Given the description of an element on the screen output the (x, y) to click on. 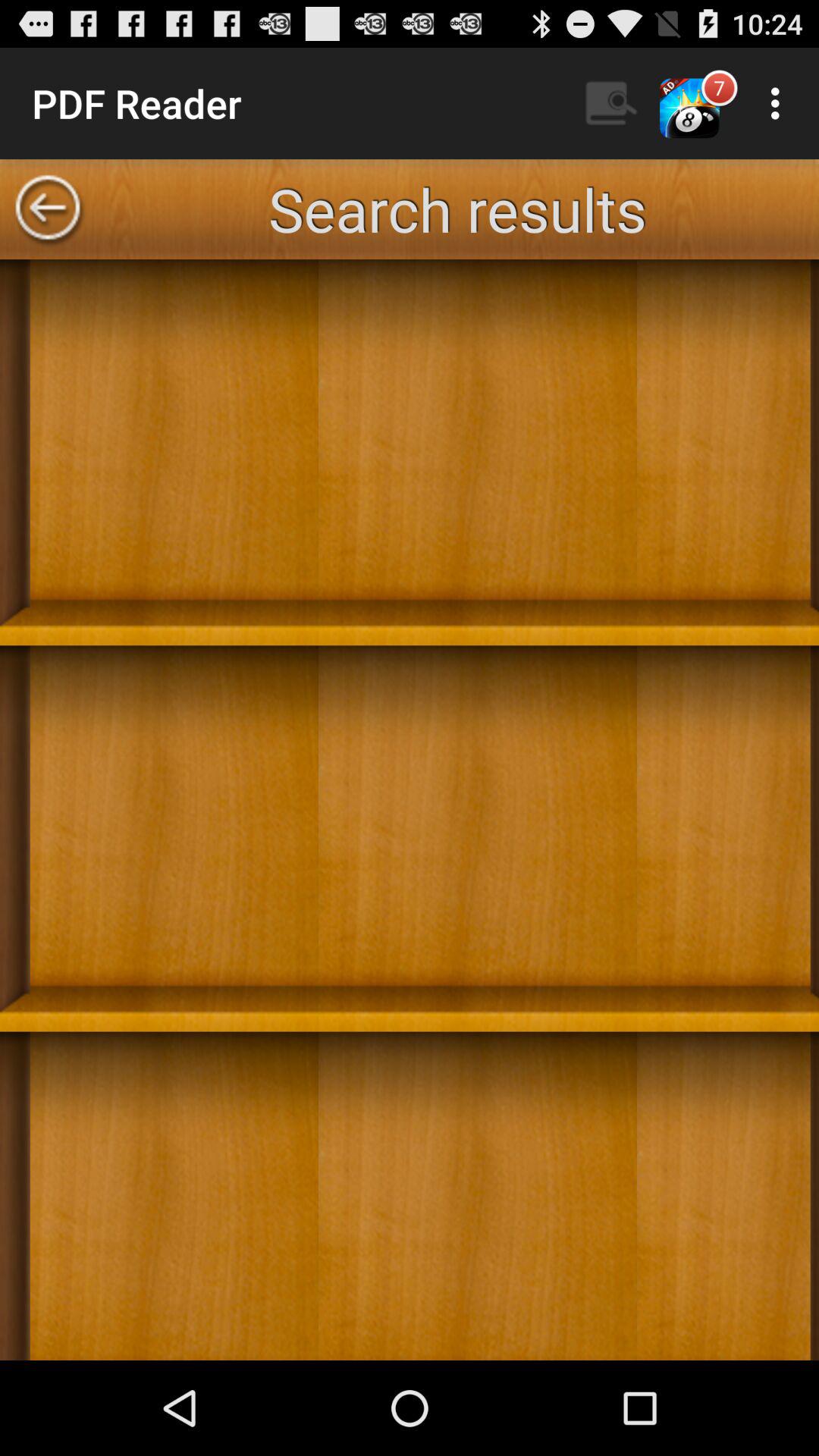
select icon above the search results (779, 103)
